Given the description of an element on the screen output the (x, y) to click on. 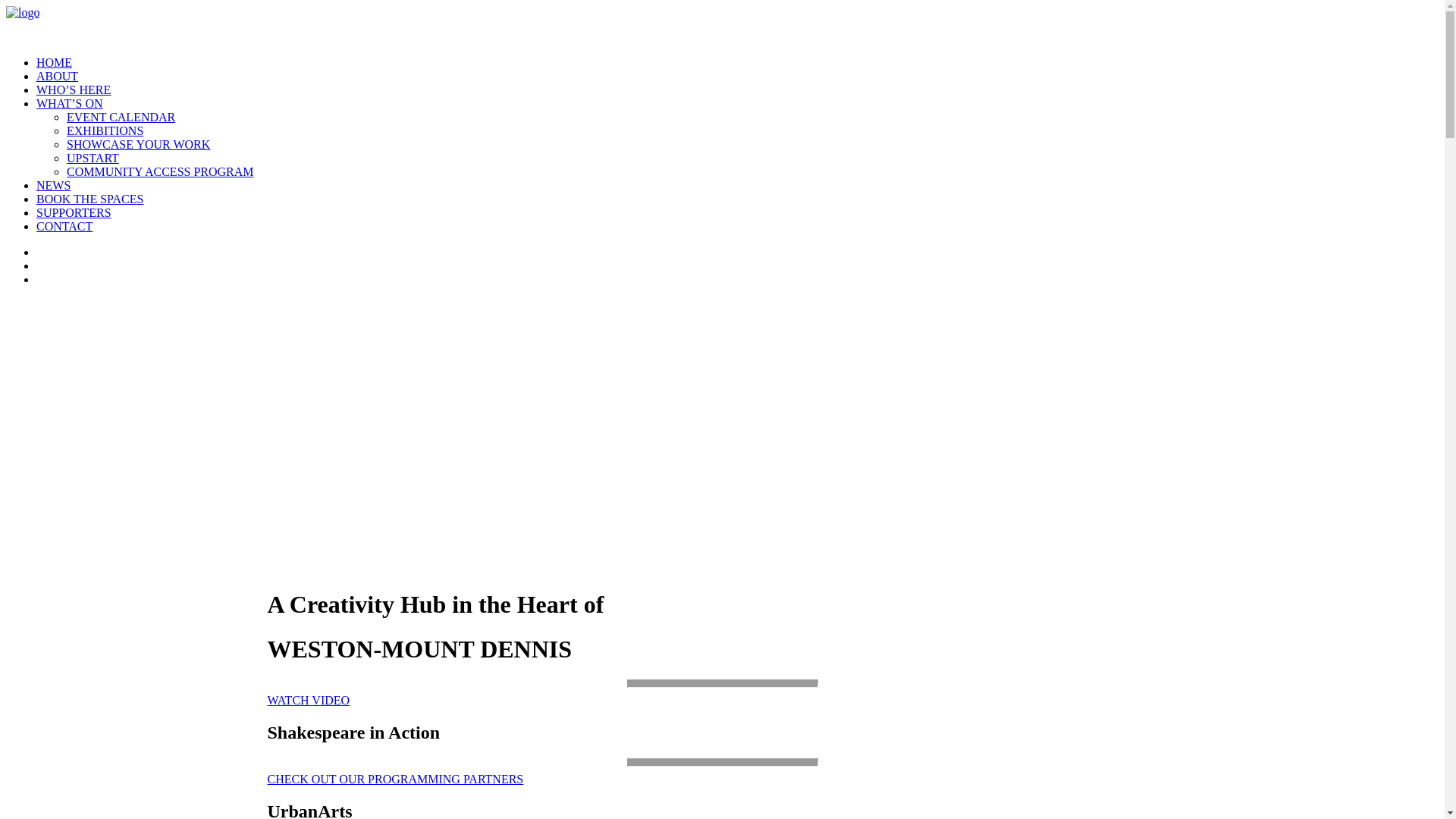
EVENT CALENDAR Element type: text (120, 116)
SUPPORTERS Element type: text (73, 212)
NEWS Element type: text (53, 184)
ABOUT Element type: text (57, 75)
BOOK THE SPACES Element type: text (89, 198)
COMMUNITY ACCESS PROGRAM Element type: text (160, 171)
CHECK OUT OUR PROGRAMMING PARTNERS Element type: text (394, 778)
SHOWCASE YOUR WORK Element type: text (138, 144)
WATCH VIDEO Element type: text (307, 699)
CONTACT Element type: text (64, 225)
EXHIBITIONS Element type: text (104, 130)
HOME Element type: text (54, 62)
UPSTART Element type: text (92, 157)
